Given the description of an element on the screen output the (x, y) to click on. 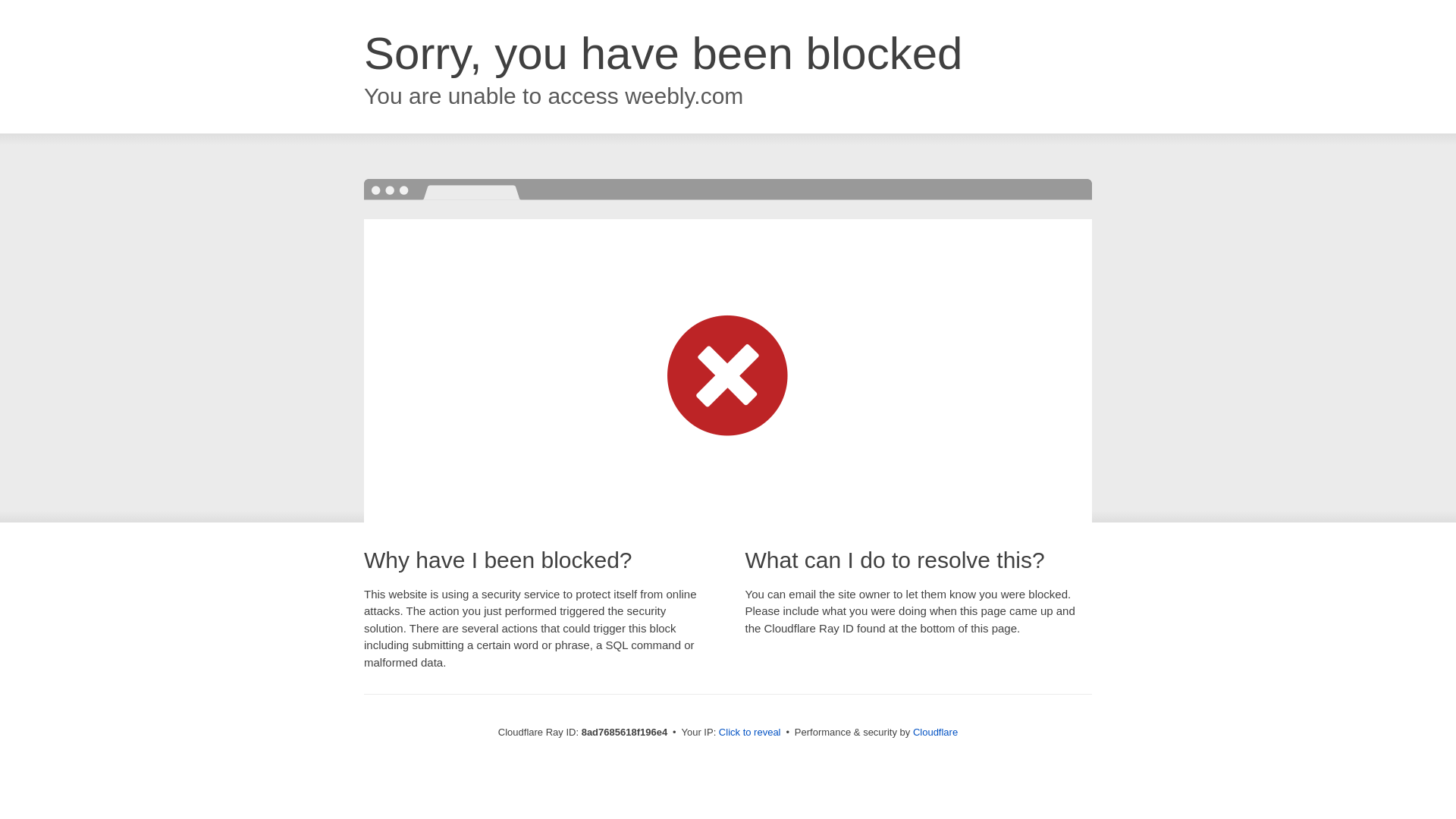
Cloudflare (935, 731)
Click to reveal (749, 732)
